Given the description of an element on the screen output the (x, y) to click on. 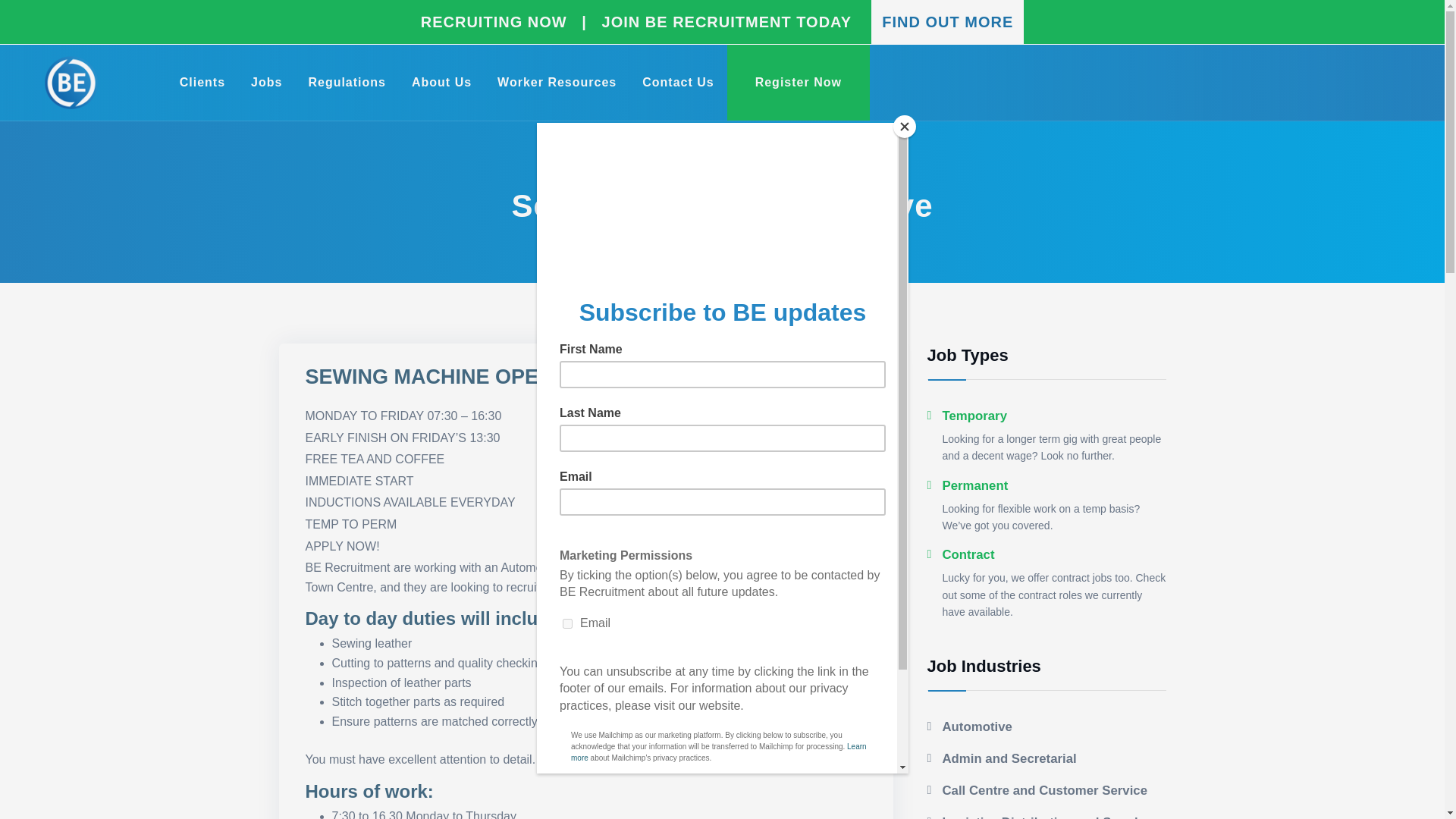
About Us (441, 82)
Contact Us (677, 82)
Jobs (266, 82)
Register Now (798, 82)
Worker Resources (556, 82)
Regulations (346, 82)
BE Recruitment (71, 82)
FIND OUT MORE (939, 21)
Clients (202, 82)
